Given the description of an element on the screen output the (x, y) to click on. 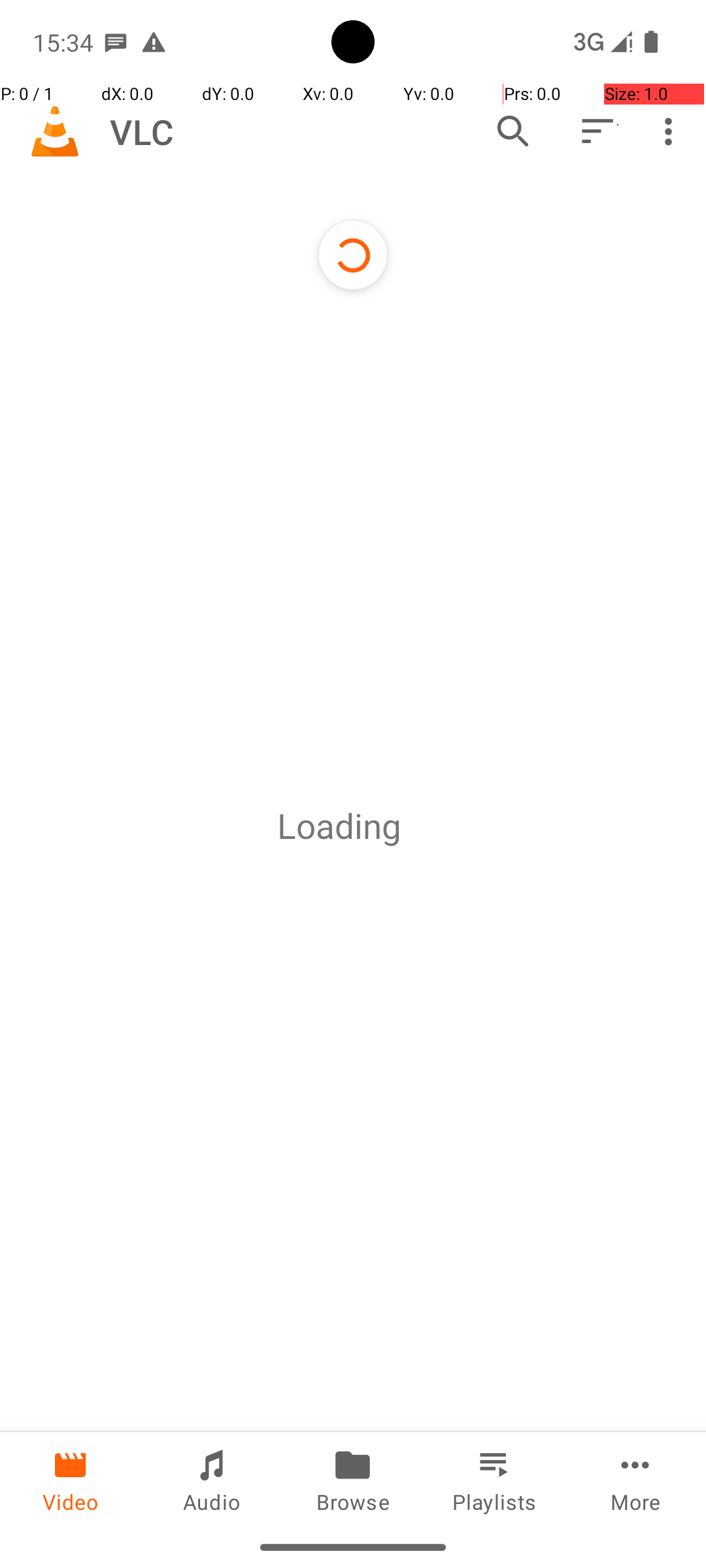
Sort by… Element type: android.widget.TextView (595, 131)
Loading Element type: android.widget.TextView (339, 825)
Browse Element type: android.widget.FrameLayout (352, 1478)
